Given the description of an element on the screen output the (x, y) to click on. 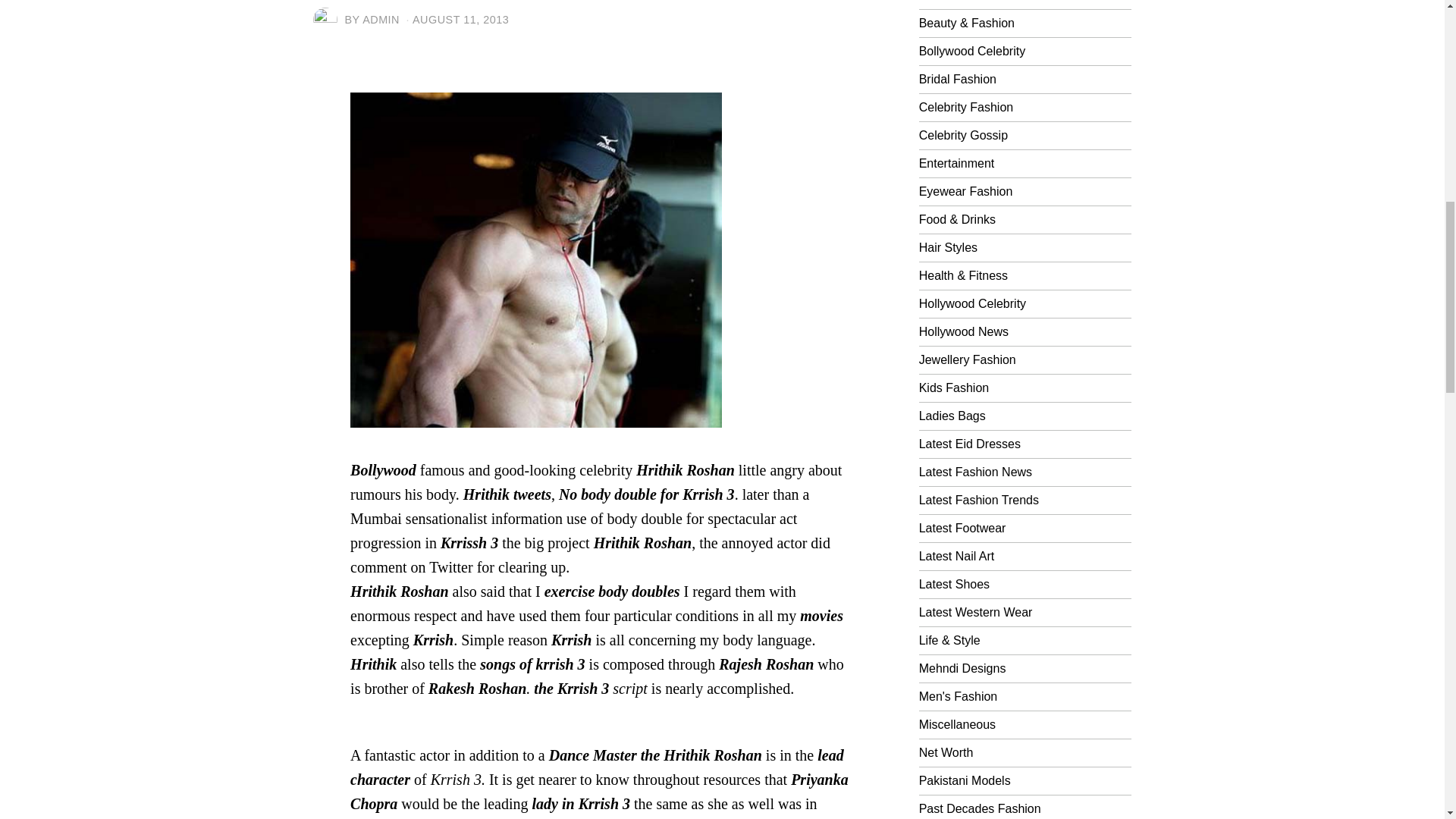
ADMIN (380, 19)
Hrithik tweets, No body double for Krrish 3 (536, 259)
